Given the description of an element on the screen output the (x, y) to click on. 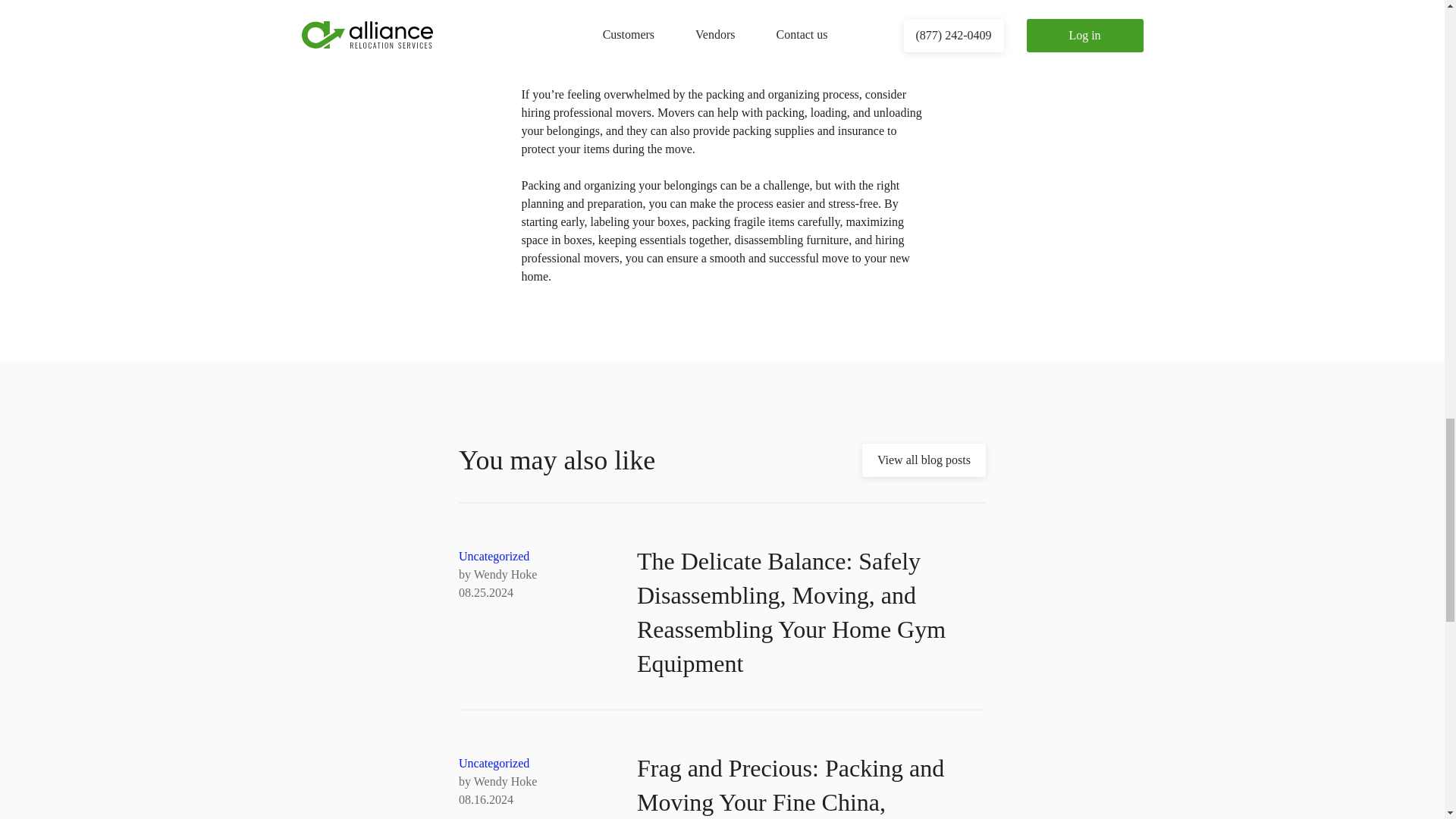
View all blog posts (923, 459)
Uncategorized (493, 762)
Uncategorized (493, 555)
